Given the description of an element on the screen output the (x, y) to click on. 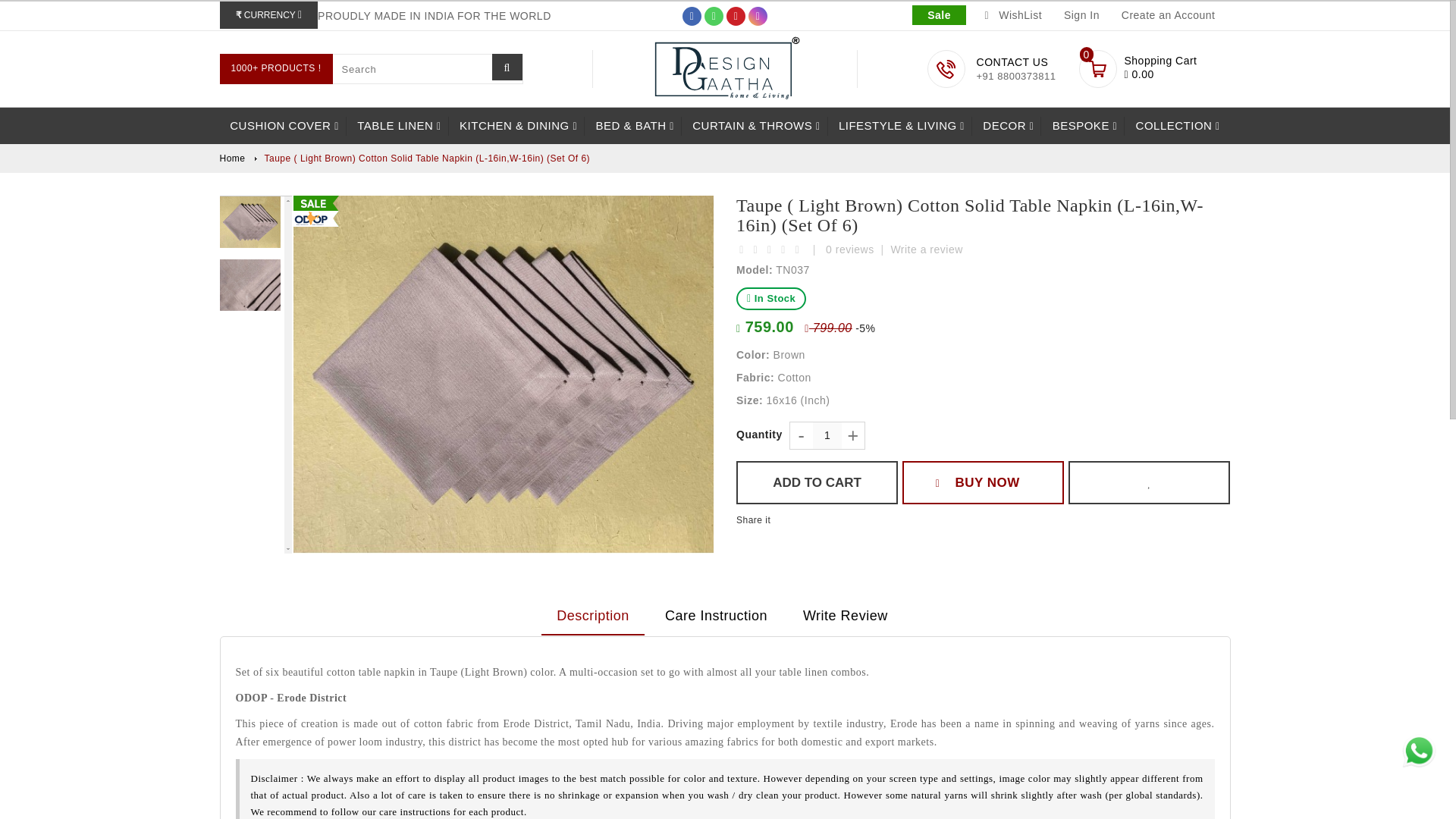
Create an Account (1166, 14)
Account (1080, 15)
Sale (939, 14)
  WishList (1013, 14)
Design Gaatha (724, 68)
Sign In (1177, 67)
1 (1080, 15)
Add to Wish List (826, 435)
Write a review (1149, 482)
